Given the description of an element on the screen output the (x, y) to click on. 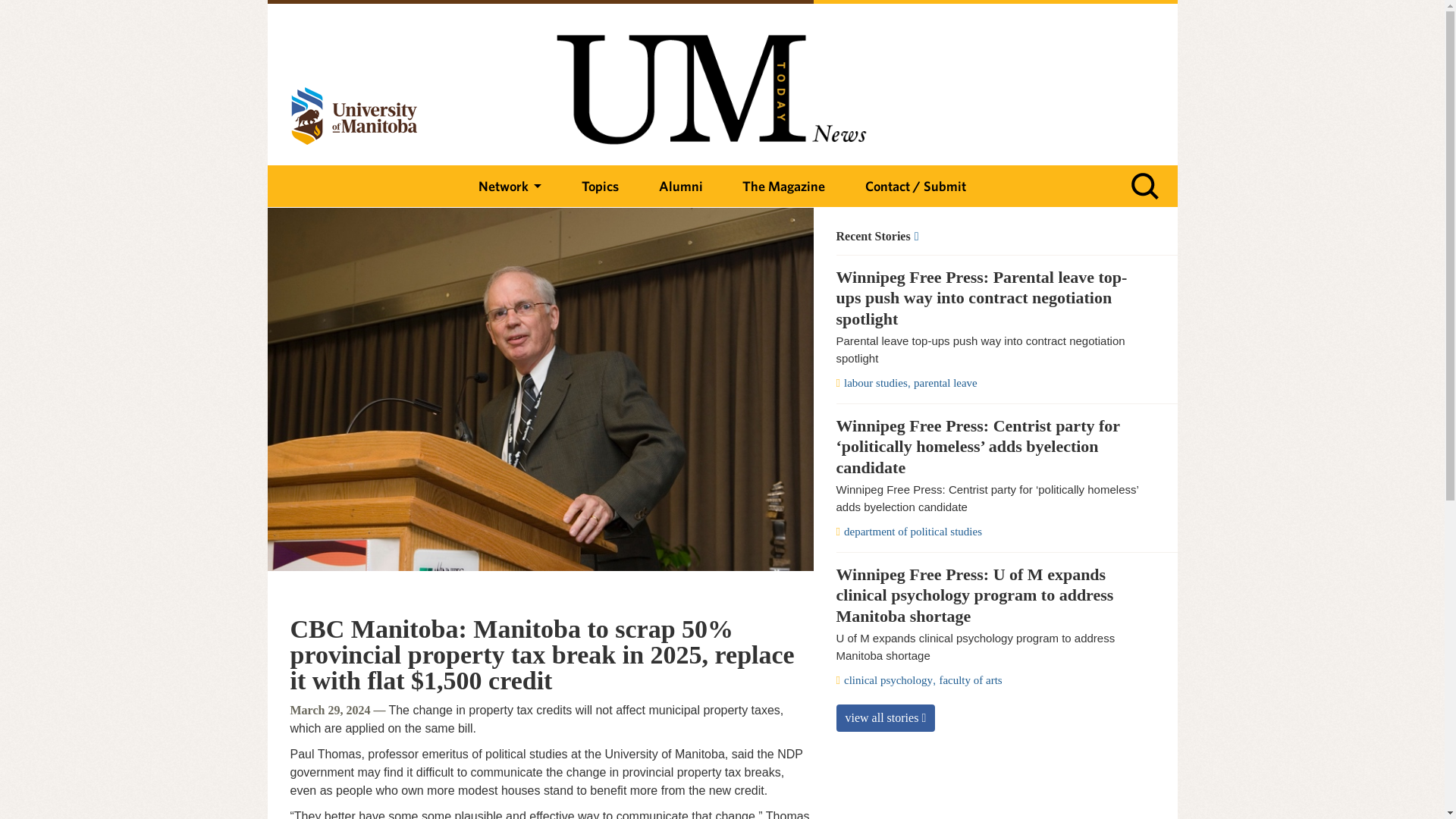
News Archives (986, 236)
Network (510, 186)
